Given the description of an element on the screen output the (x, y) to click on. 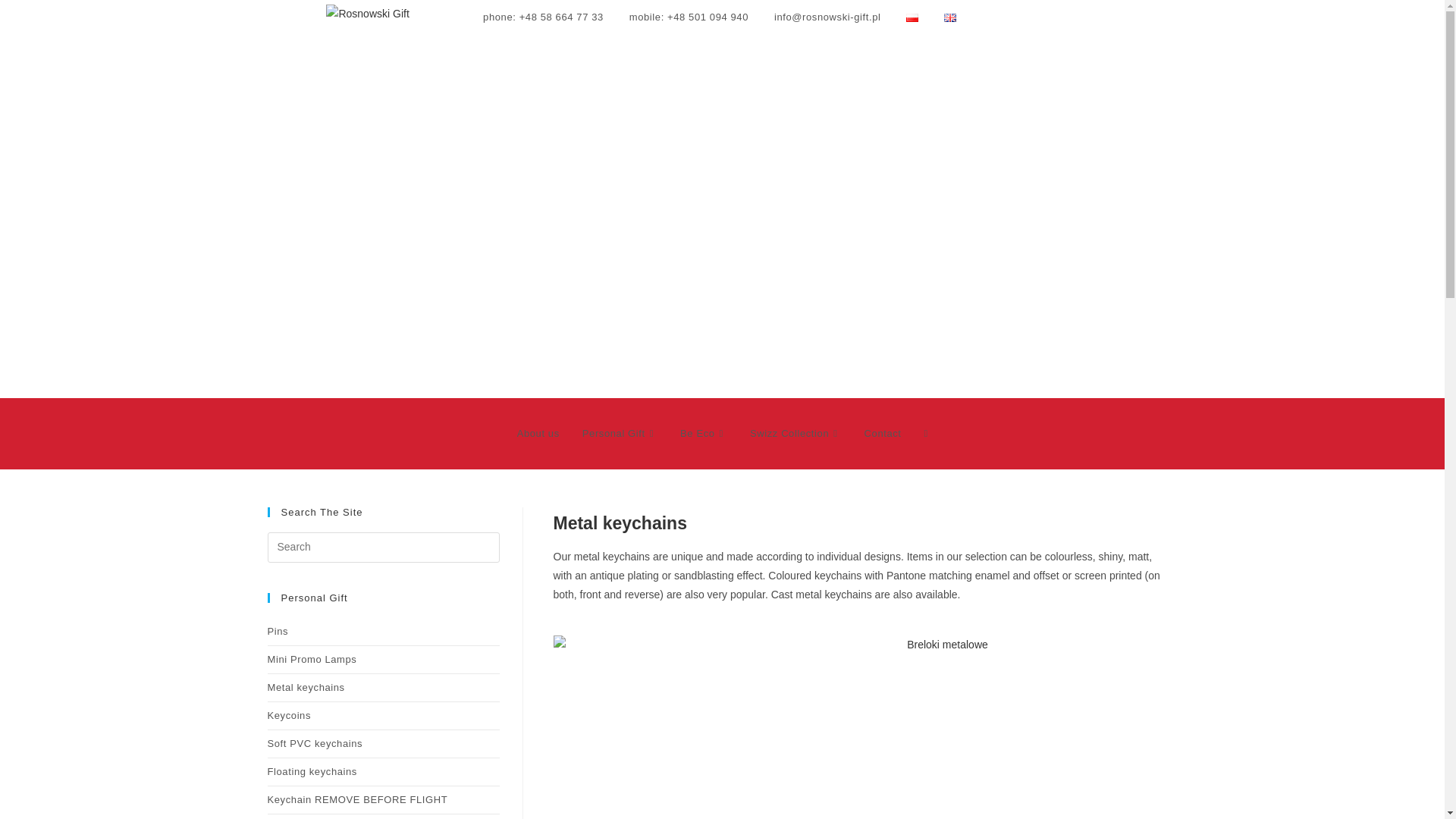
Rosnowski-Gift-Logo (367, 13)
Personal Gift (619, 433)
Be Eco (703, 433)
About us (537, 433)
